Given the description of an element on the screen output the (x, y) to click on. 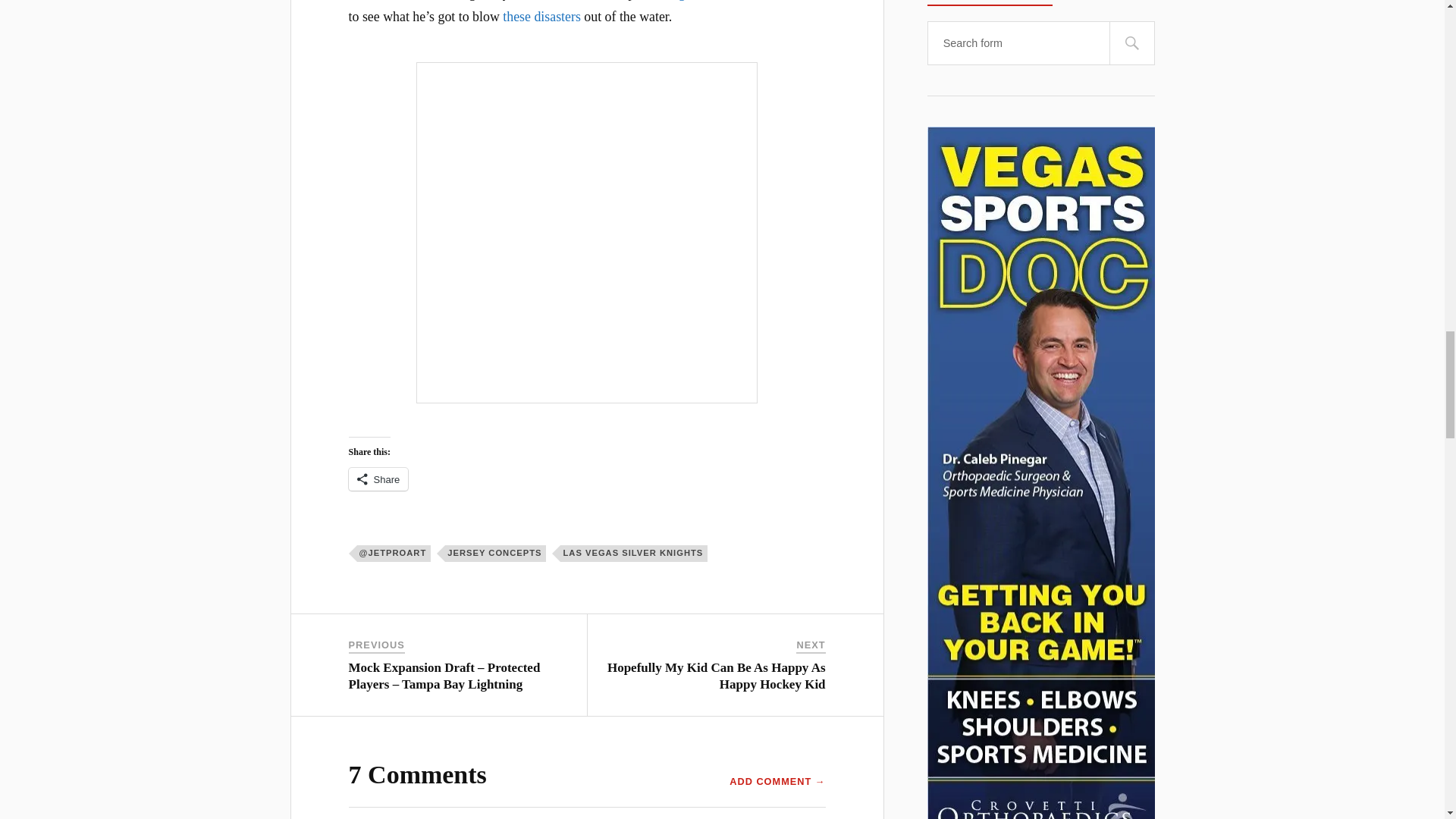
these disasters (541, 16)
